Given the description of an element on the screen output the (x, y) to click on. 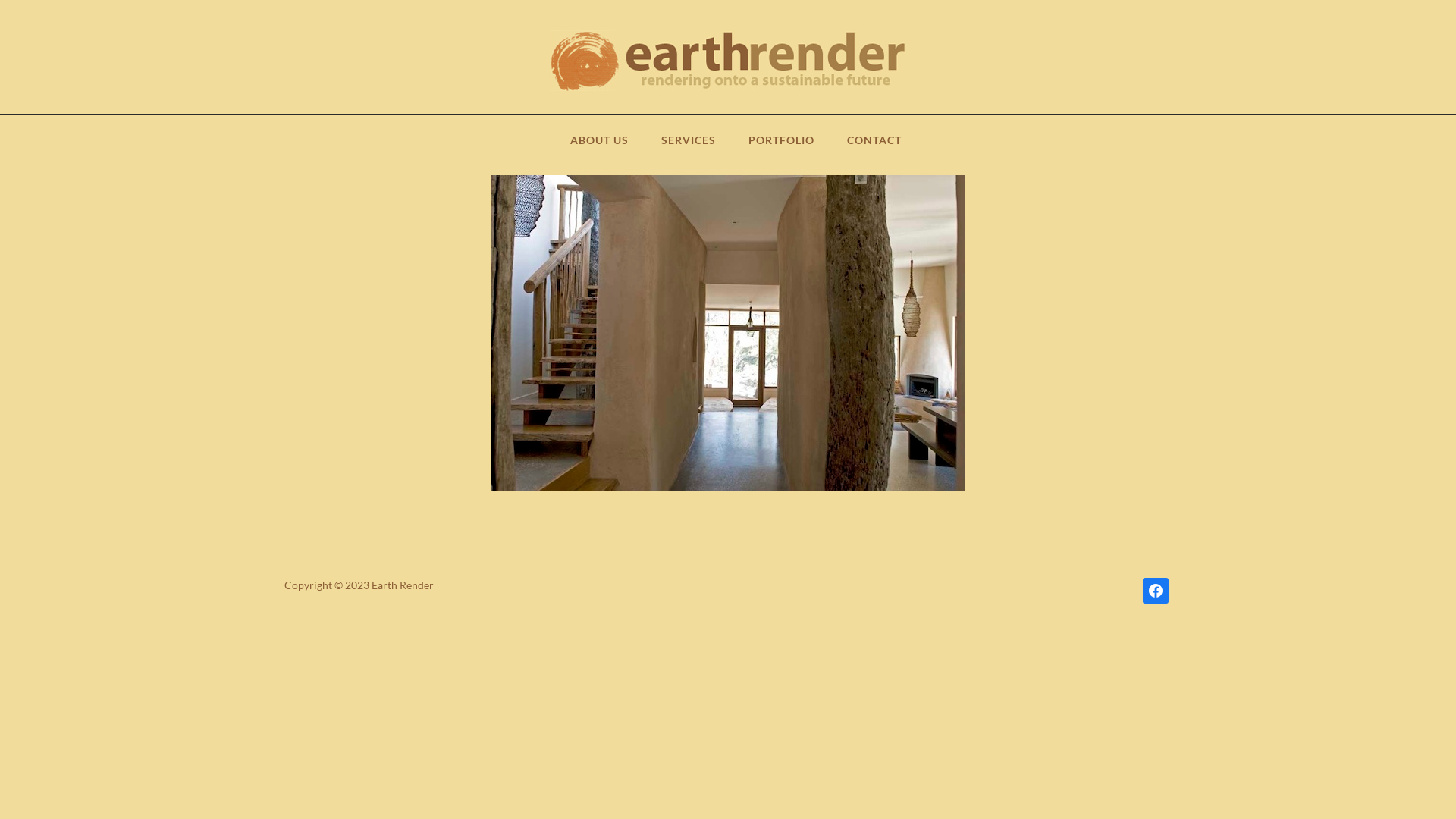
PORTFOLIO Element type: text (780, 145)
CONTACT Element type: text (873, 145)
facebook Element type: text (1155, 589)
SERVICES Element type: text (688, 145)
ABOUT US Element type: text (599, 145)
